Given the description of an element on the screen output the (x, y) to click on. 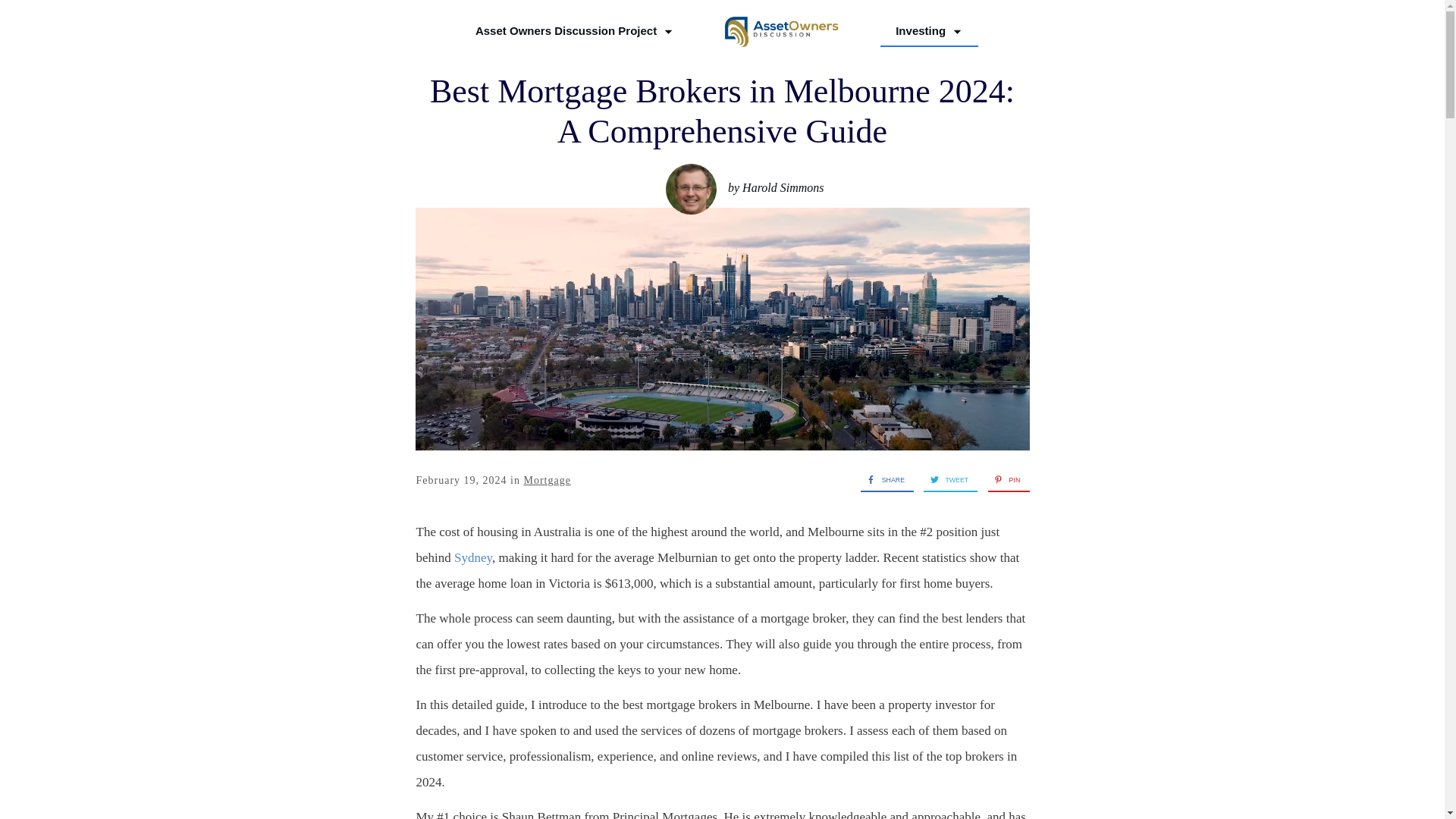
Harold Simmons (690, 188)
Harold Simmons (783, 187)
SHARE (882, 479)
Mortgage (546, 480)
Harold Simmons (783, 187)
Asset Owners Discussion Project (575, 30)
Investing (928, 30)
PIN (1004, 479)
Mortgage (546, 480)
TWEET (945, 479)
